Given the description of an element on the screen output the (x, y) to click on. 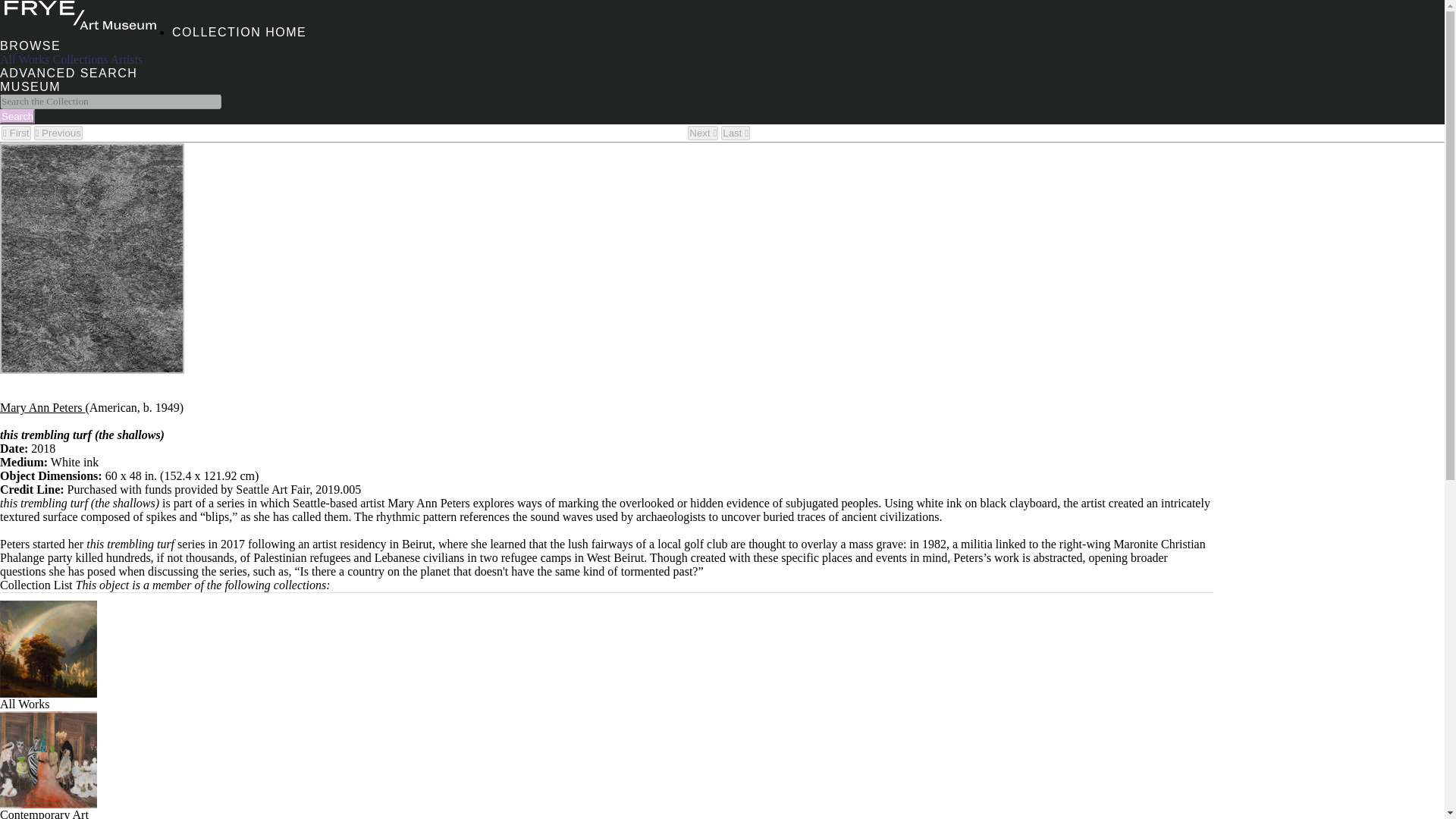
All Works (48, 698)
COLLECTION HOME (238, 31)
Contemporary Art (48, 808)
First (15, 133)
Last (734, 133)
All Works (24, 59)
Mary Ann Peters (42, 407)
BROWSE (30, 45)
MUSEUM (30, 86)
Artists (126, 59)
Previous (57, 133)
Search (17, 115)
Next (702, 133)
Collections (79, 59)
ADVANCED SEARCH (68, 72)
